Given the description of an element on the screen output the (x, y) to click on. 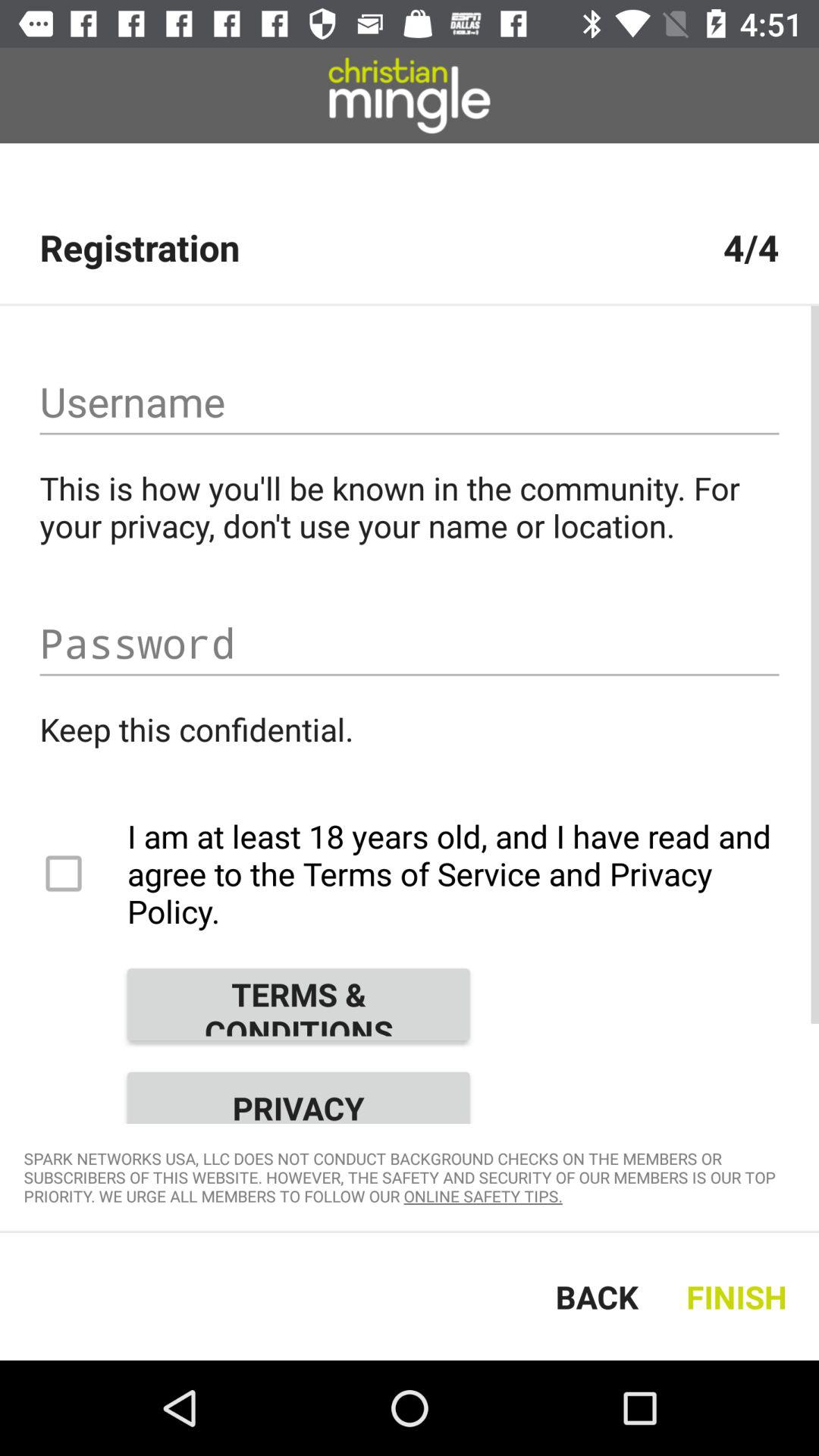
turn on the spark networks usa icon (409, 1176)
